Given the description of an element on the screen output the (x, y) to click on. 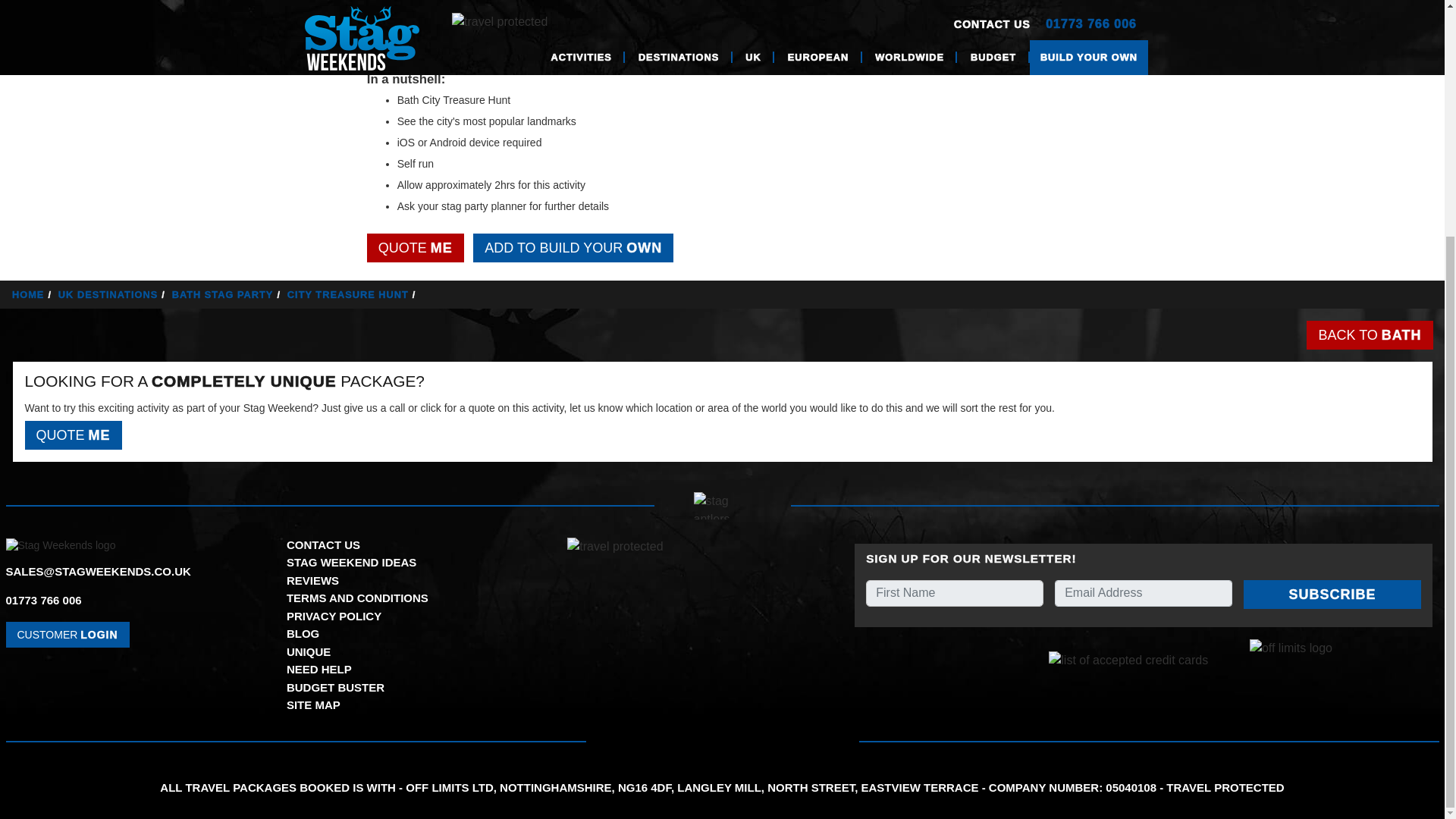
BUDGET BUSTER (335, 686)
BATH STAG PARTY (227, 294)
STAG WEEKEND IDEAS (351, 562)
BACK TO BATH (1369, 335)
UNIQUE (308, 651)
NEED HELP (319, 668)
TERMS AND CONDITIONS (357, 597)
UK DESTINATIONS (113, 294)
HOME (33, 294)
SITE MAP (313, 704)
